Given the description of an element on the screen output the (x, y) to click on. 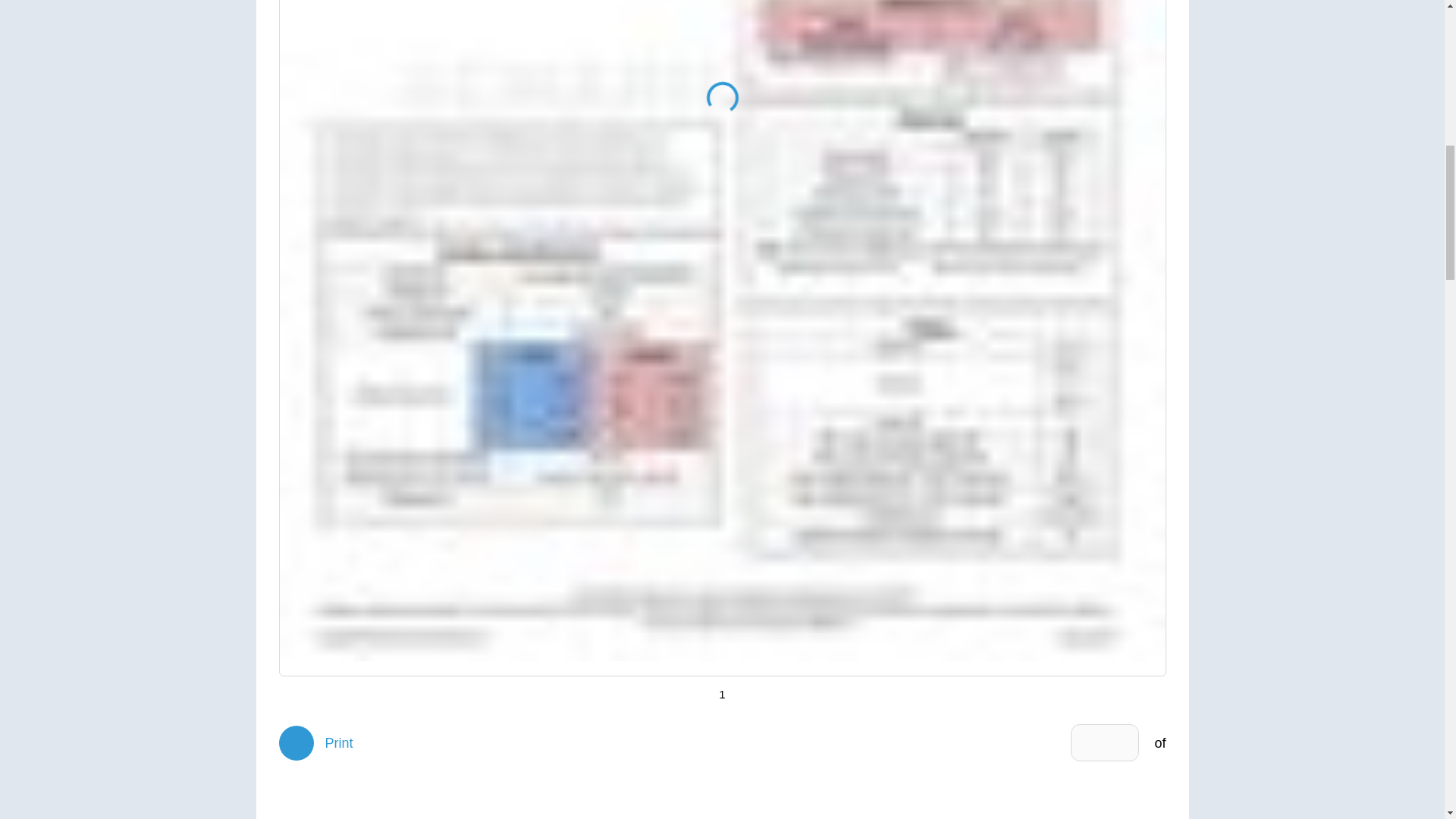
Print (316, 742)
Print (316, 742)
